Given the description of an element on the screen output the (x, y) to click on. 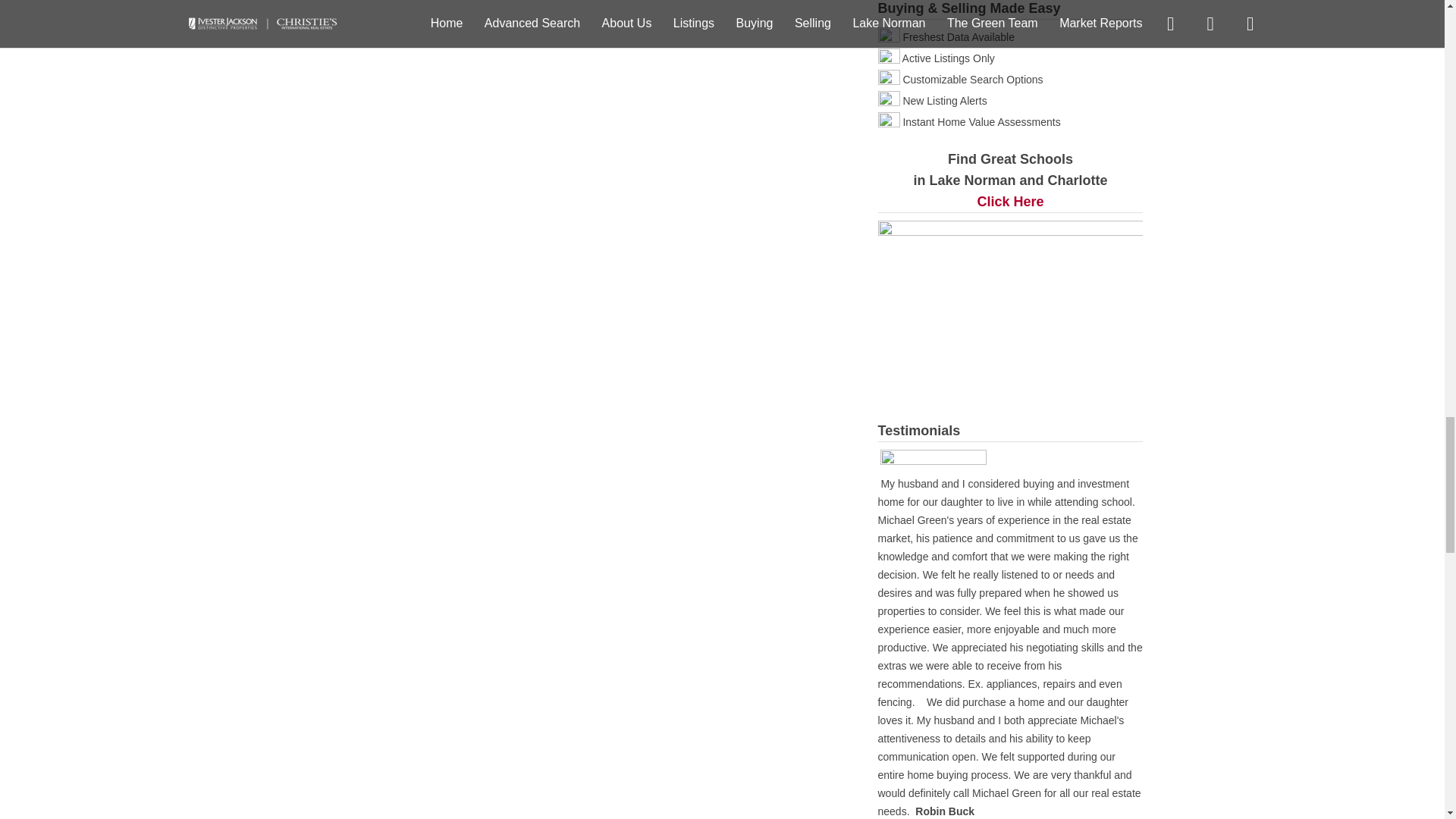
Great Schools (1009, 295)
Great Schools (1009, 201)
